Given the description of an element on the screen output the (x, y) to click on. 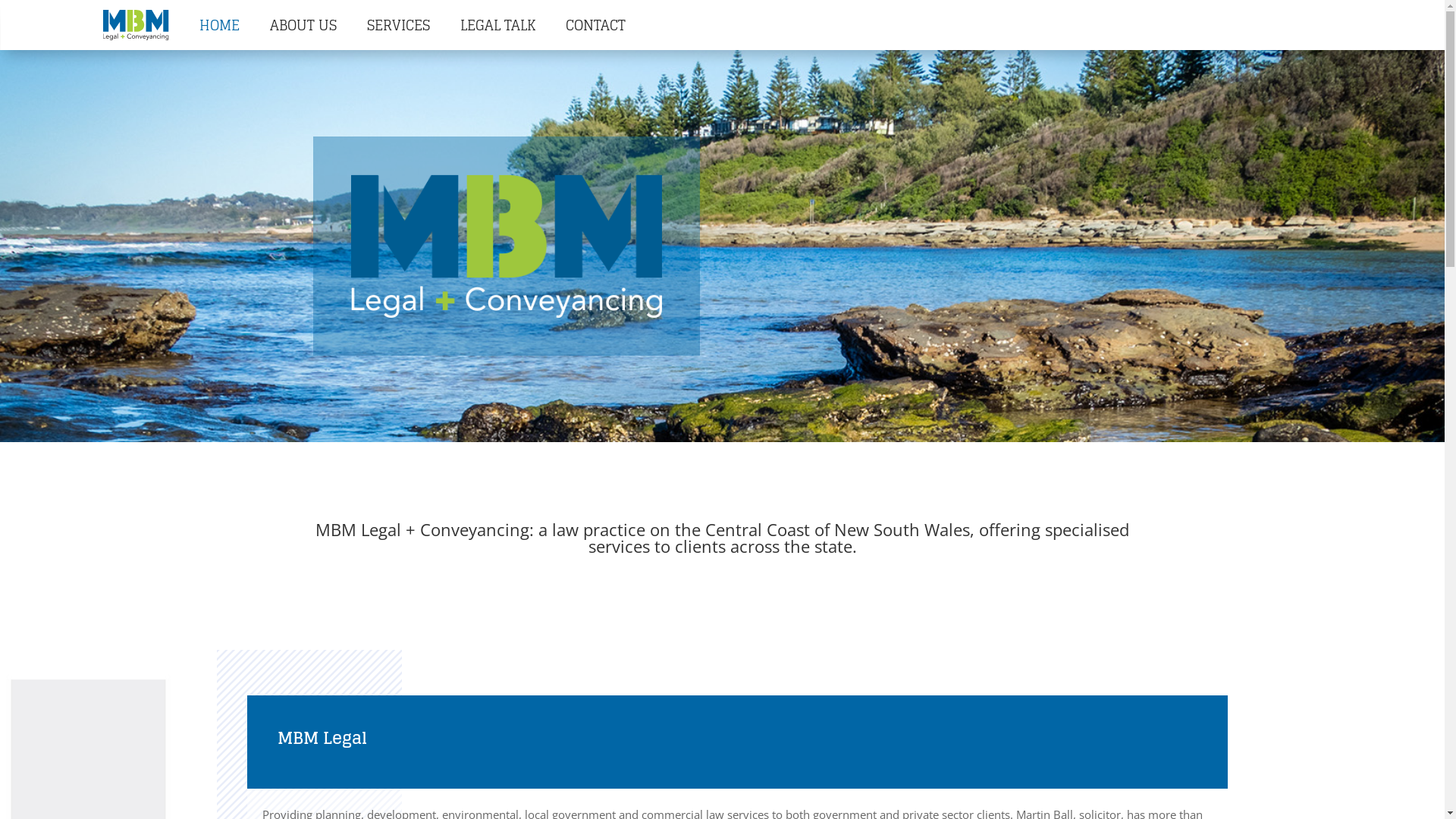
HOME Element type: text (219, 25)
CONTACT Element type: text (595, 25)
LEGAL TALK Element type: text (497, 25)
SERVICES Element type: text (398, 25)
ABOUT US Element type: text (302, 25)
